Given the description of an element on the screen output the (x, y) to click on. 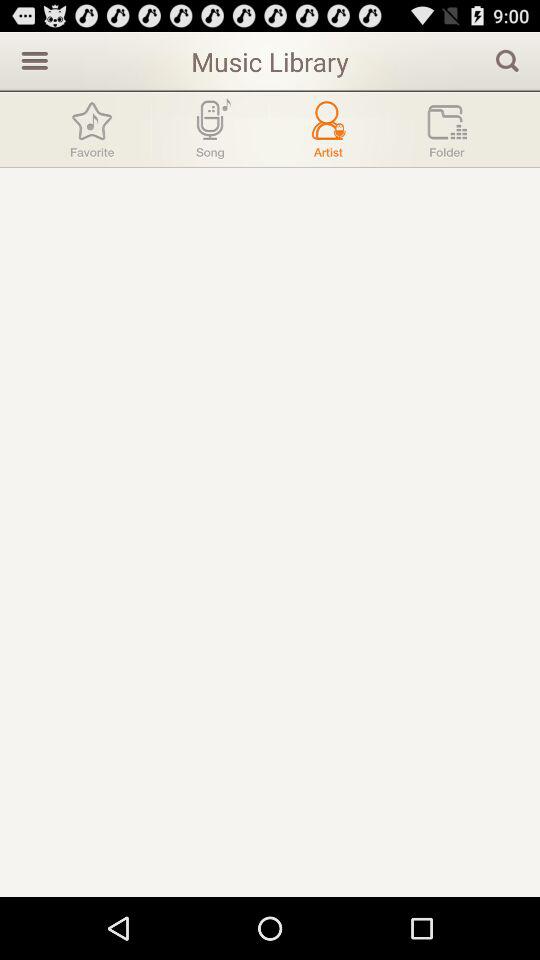
toggle favorite (92, 129)
